Given the description of an element on the screen output the (x, y) to click on. 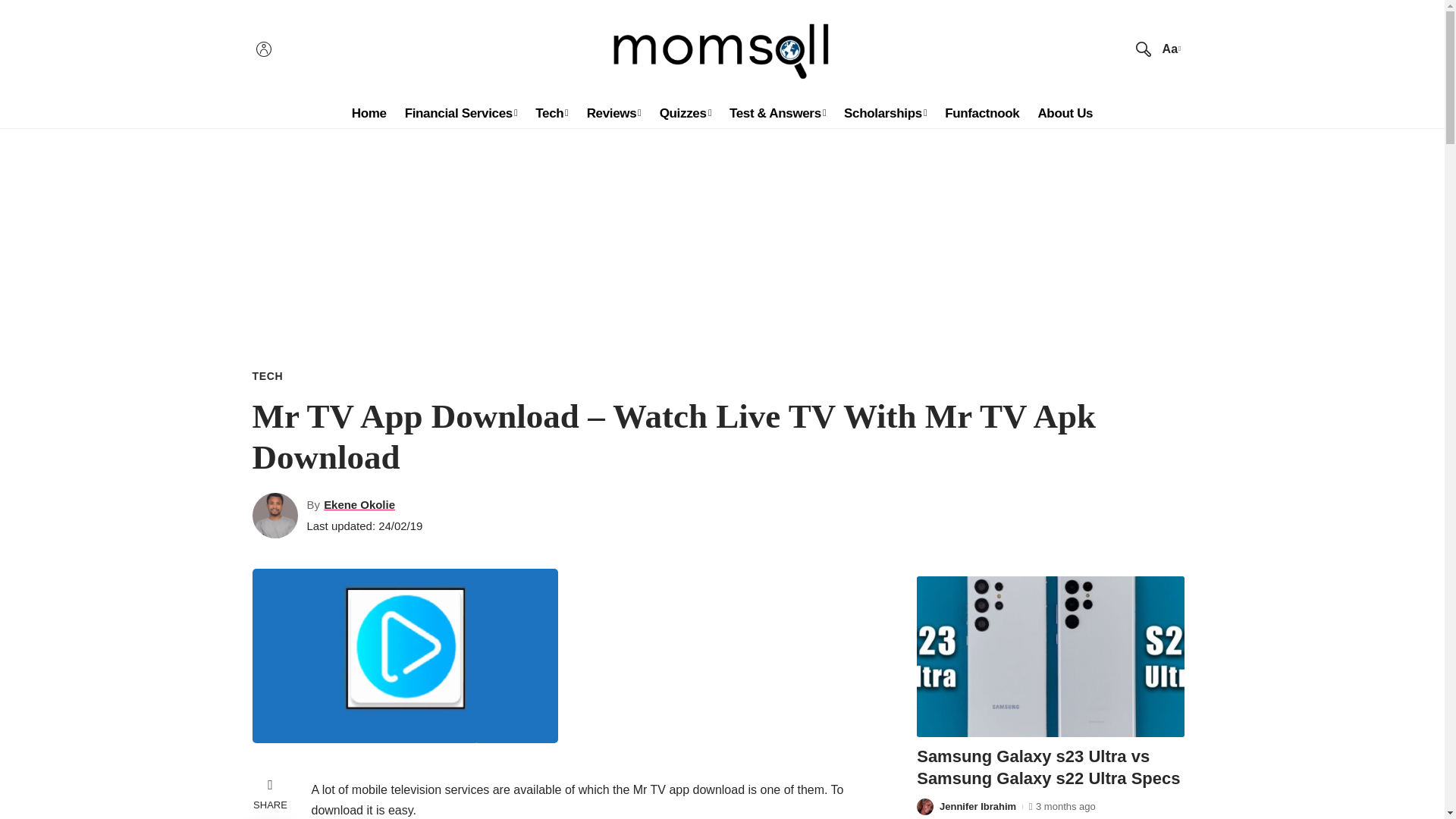
Home (369, 113)
Financial Services (461, 113)
Tech (550, 113)
Aa (1169, 48)
Momsall (721, 48)
Reviews (614, 113)
